Given the description of an element on the screen output the (x, y) to click on. 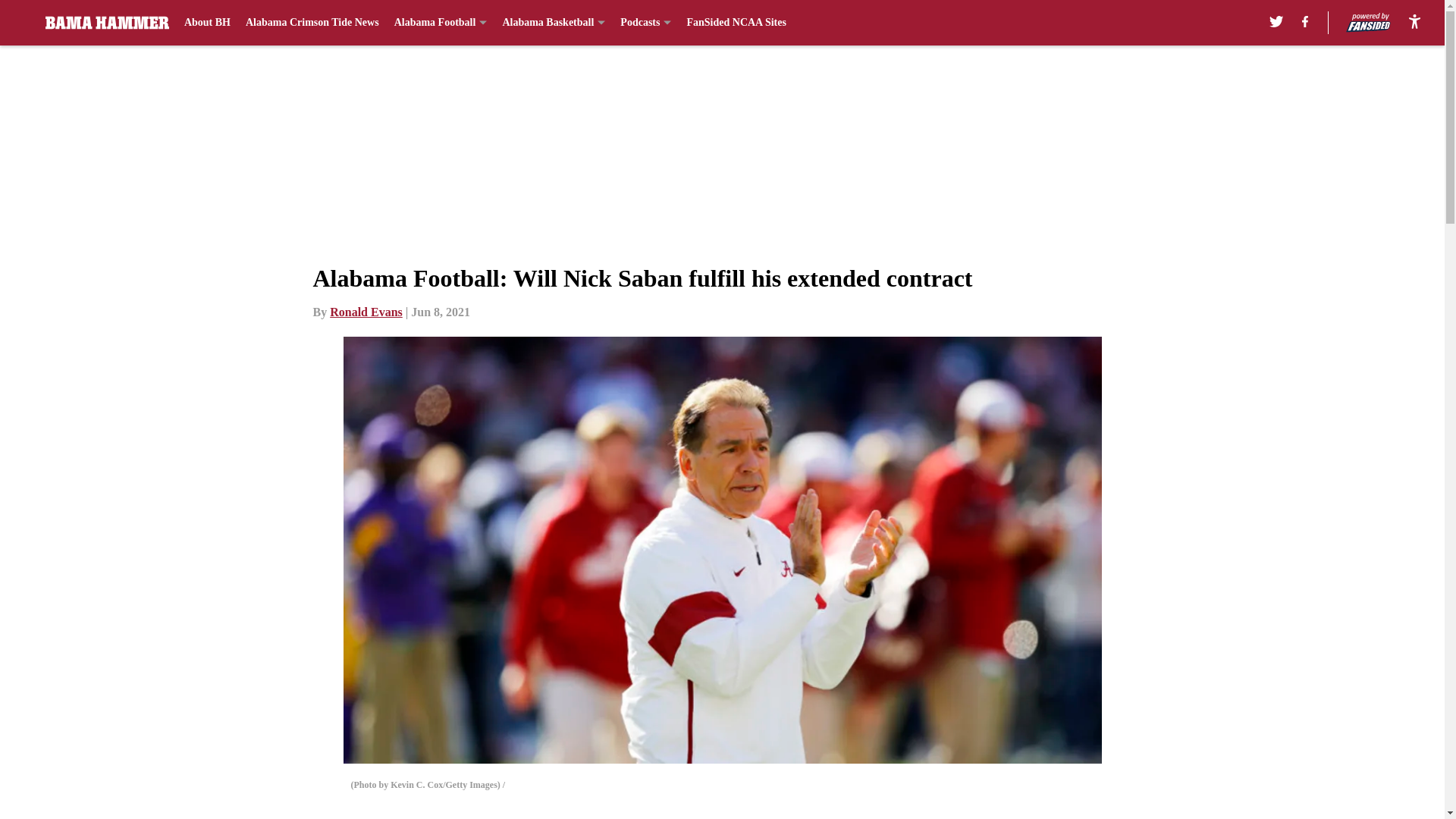
FanSided NCAA Sites (735, 22)
Alabama Crimson Tide News (312, 22)
About BH (207, 22)
Ronald Evans (366, 311)
